Given the description of an element on the screen output the (x, y) to click on. 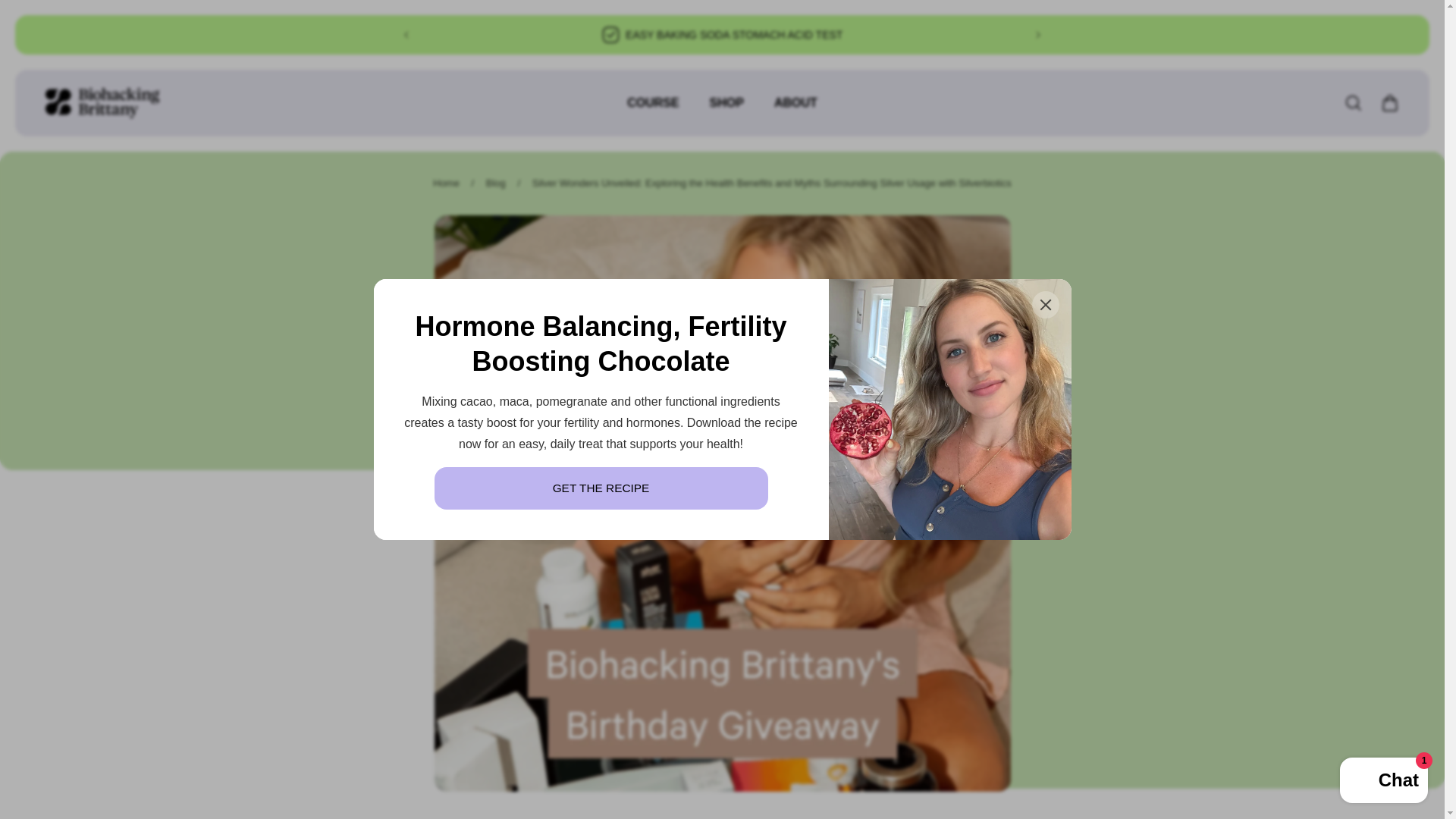
COURSE (652, 110)
Blog (495, 183)
Shopify online store chat (1383, 781)
GET THE RECIPE (600, 487)
Home (446, 183)
SHOP (726, 110)
ABOUT (795, 110)
